Given the description of an element on the screen output the (x, y) to click on. 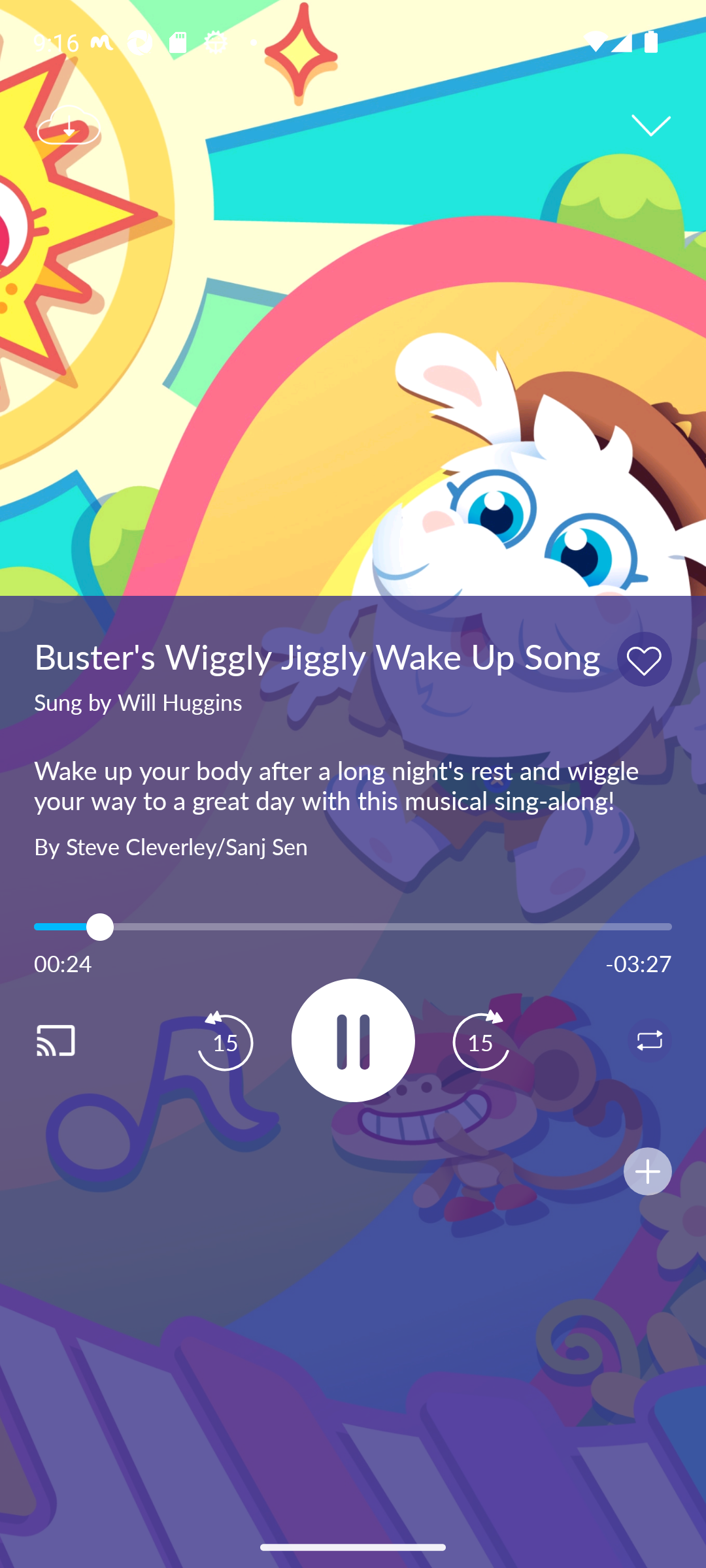
24.0 (352, 926)
Cast. Disconnected (76, 1040)
